Given the description of an element on the screen output the (x, y) to click on. 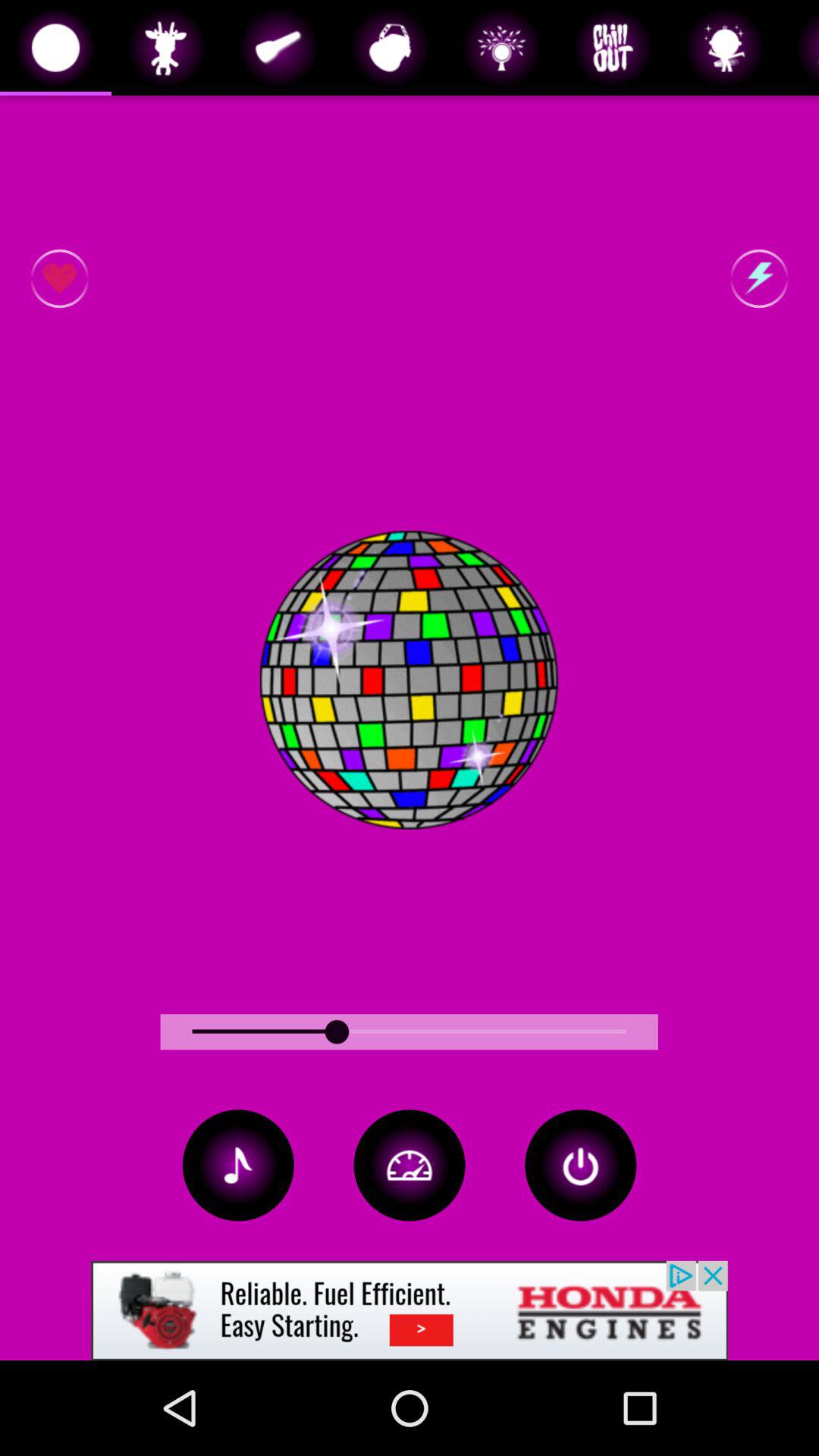
power (580, 1165)
